Given the description of an element on the screen output the (x, y) to click on. 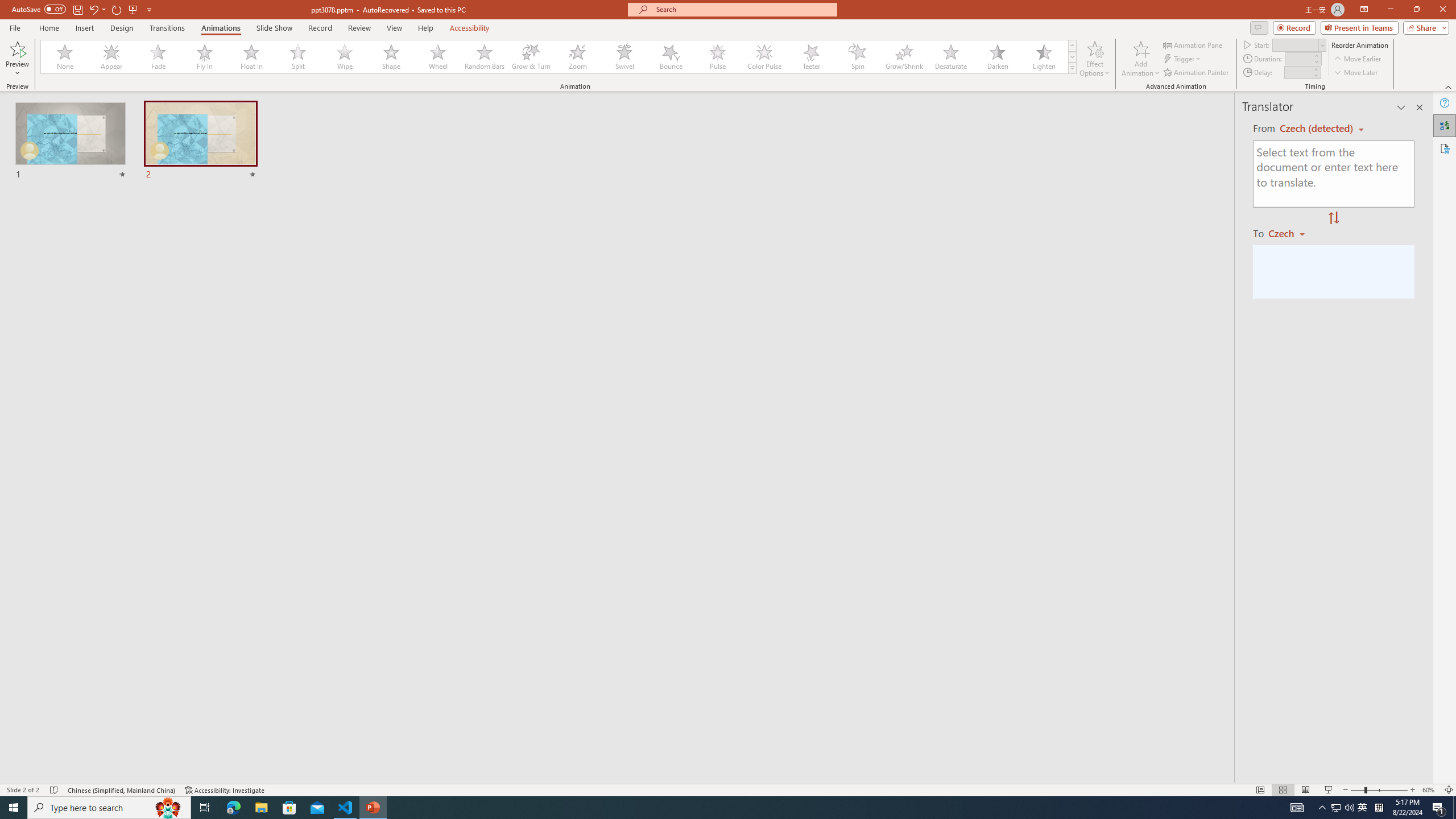
Animation Duration (1298, 58)
Shape (391, 56)
Grow & Turn (531, 56)
Trigger (1182, 58)
Swivel (624, 56)
Lighten (1043, 56)
Pulse (717, 56)
